Given the description of an element on the screen output the (x, y) to click on. 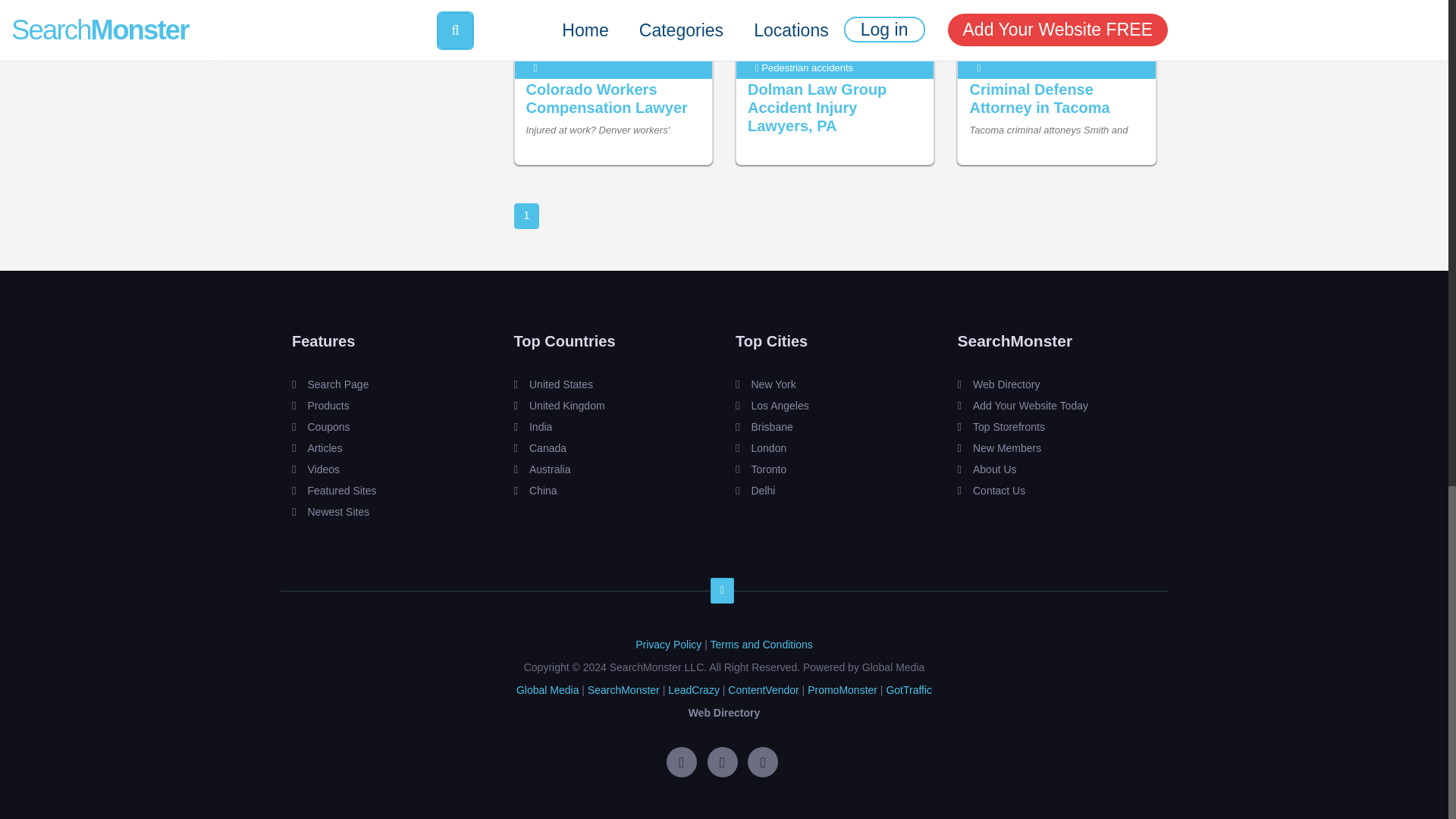
Dolman Law Group Accident Injury Lawyers, PA (817, 107)
Colorado Workers Compensation Lawyer (606, 98)
Criminal Defense Attorney in Tacoma (1039, 98)
